Given the description of an element on the screen output the (x, y) to click on. 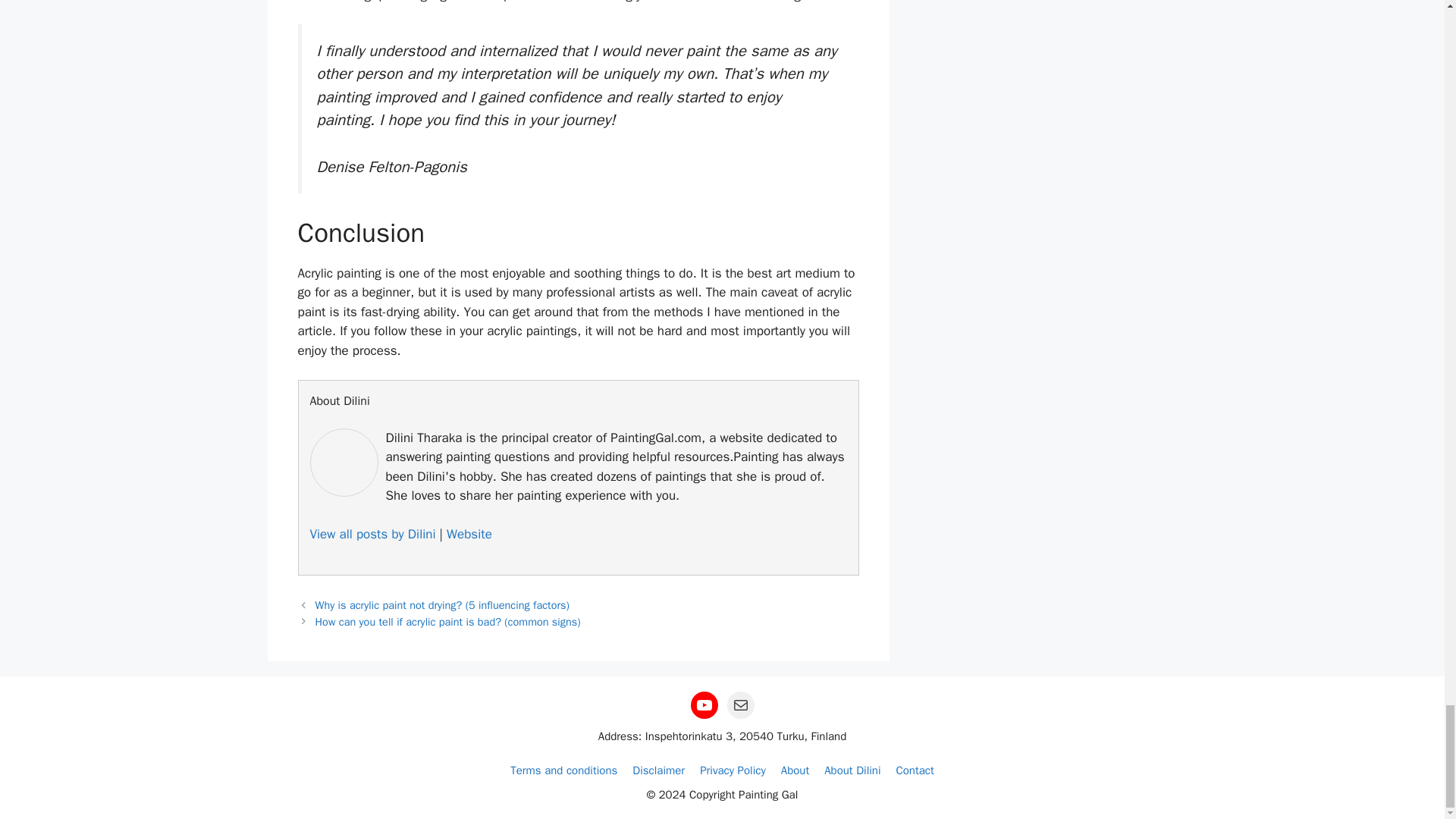
Terms and conditions (564, 770)
Contact (915, 770)
About Dilini (852, 770)
Privacy Policy (732, 770)
About (794, 770)
Disclaimer (657, 770)
View all posts by Dilini (371, 534)
YouTube (703, 704)
Website (469, 534)
Mail (740, 704)
